Given the description of an element on the screen output the (x, y) to click on. 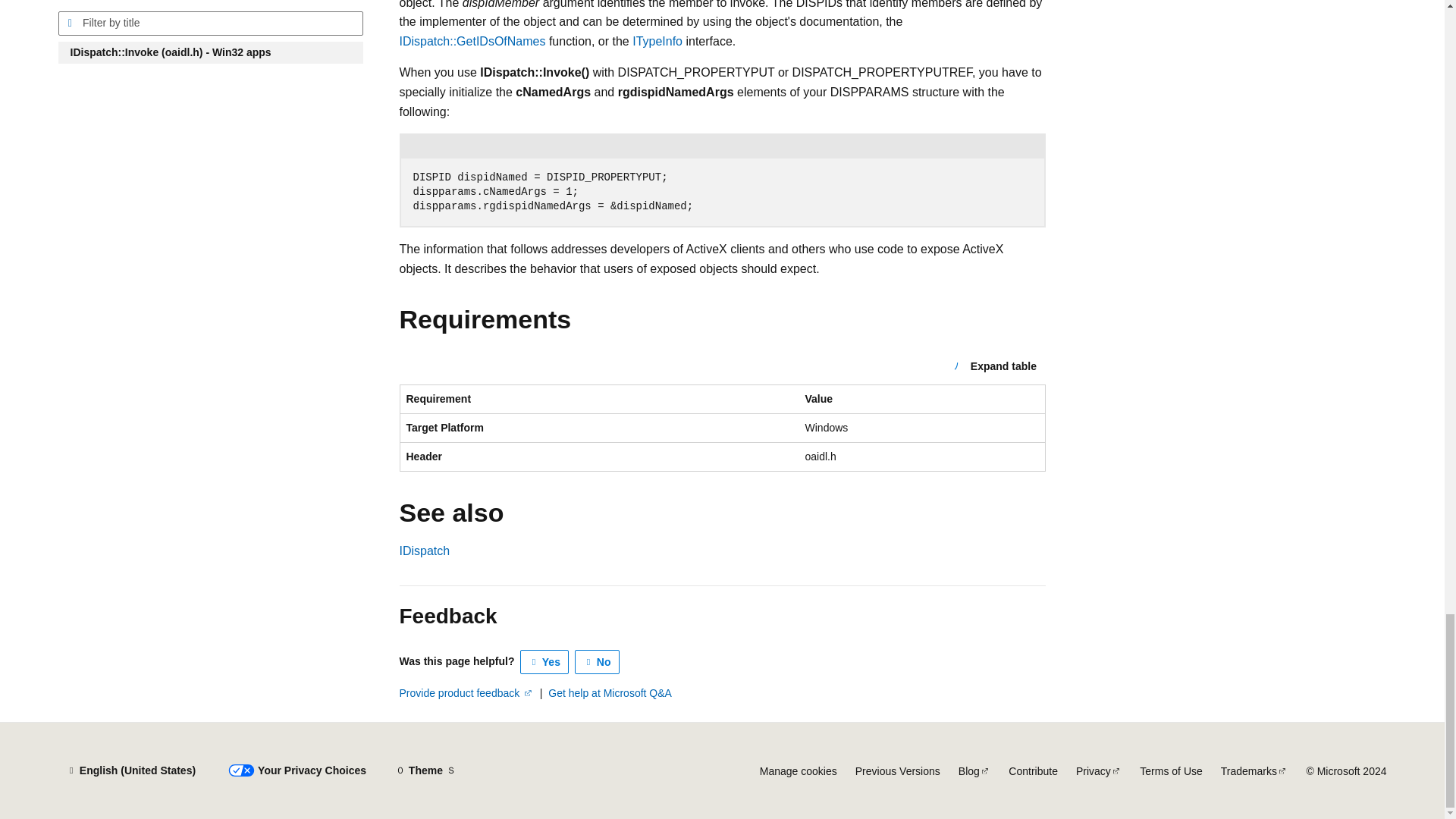
Theme (425, 770)
This article is helpful (544, 662)
This article is not helpful (597, 662)
